Given the description of an element on the screen output the (x, y) to click on. 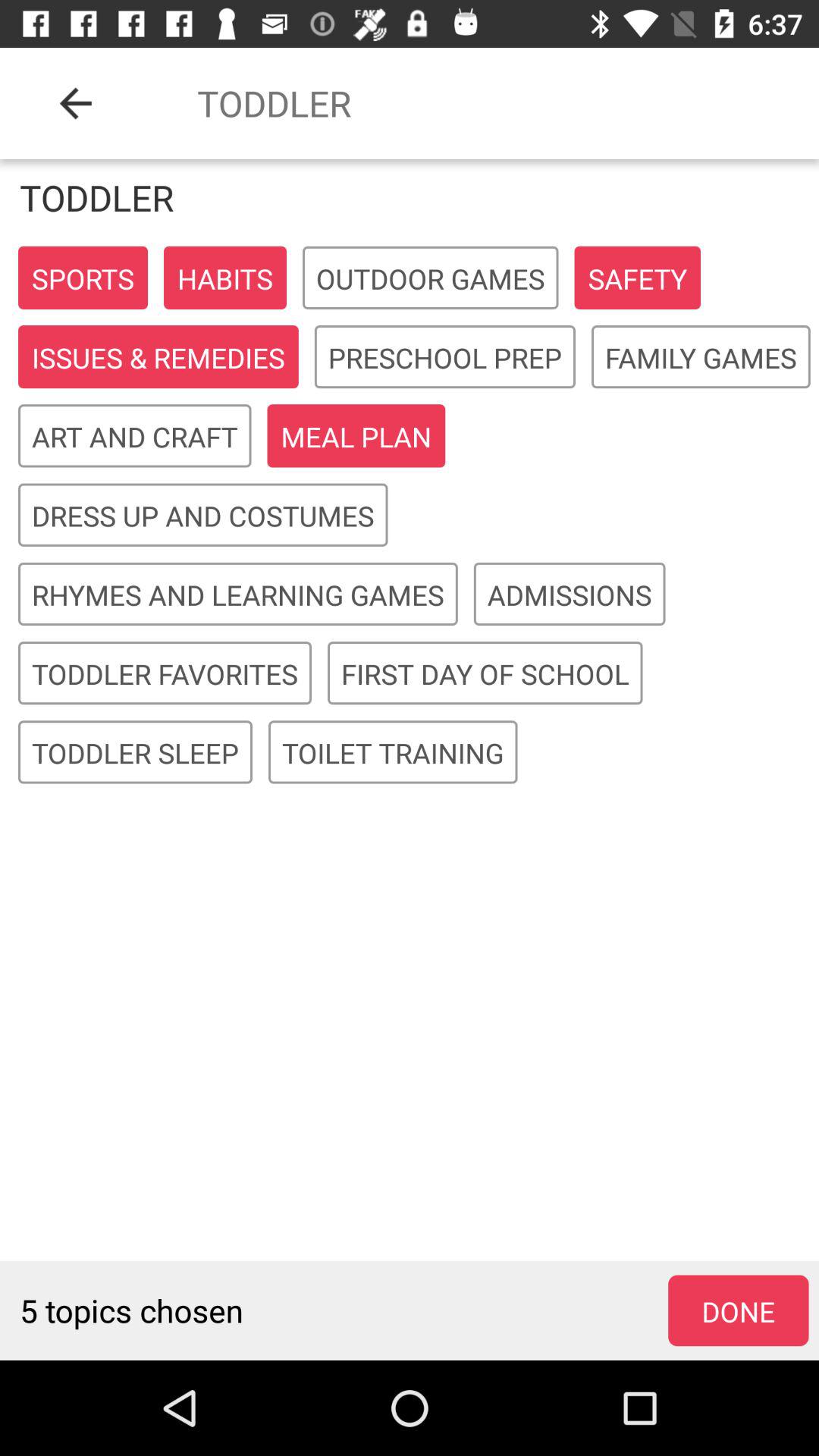
choose preschool prep icon (444, 357)
